Given the description of an element on the screen output the (x, y) to click on. 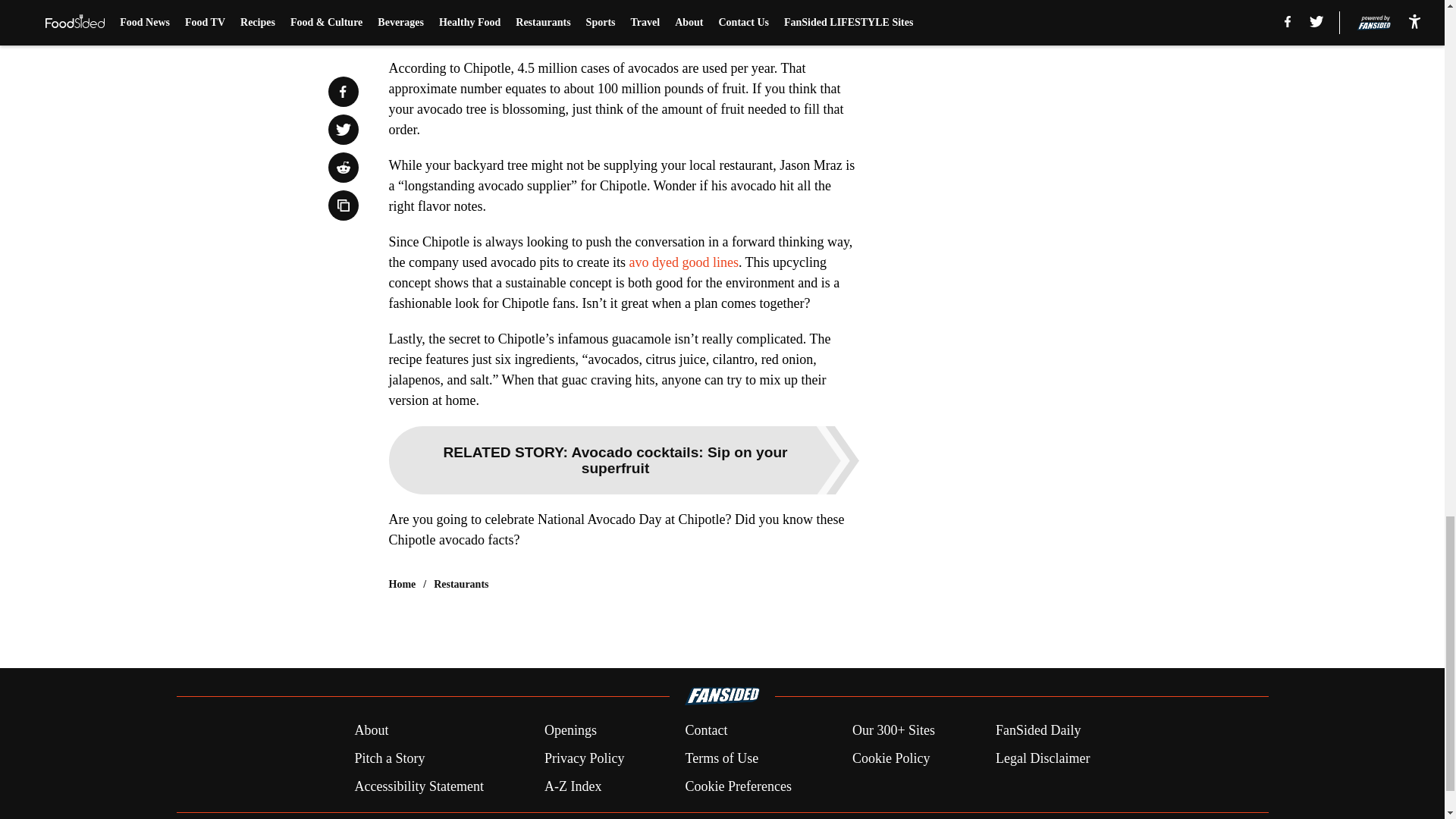
Home (401, 584)
avo dyed good lines (683, 262)
FanSided Daily (1038, 730)
Pitch a Story (389, 758)
RELATED STORY: Avocado cocktails: Sip on your superfruit (623, 459)
Cookie Policy (890, 758)
Terms of Use (721, 758)
Accessibility Statement (418, 786)
Contact (705, 730)
Legal Disclaimer (1042, 758)
